Given the description of an element on the screen output the (x, y) to click on. 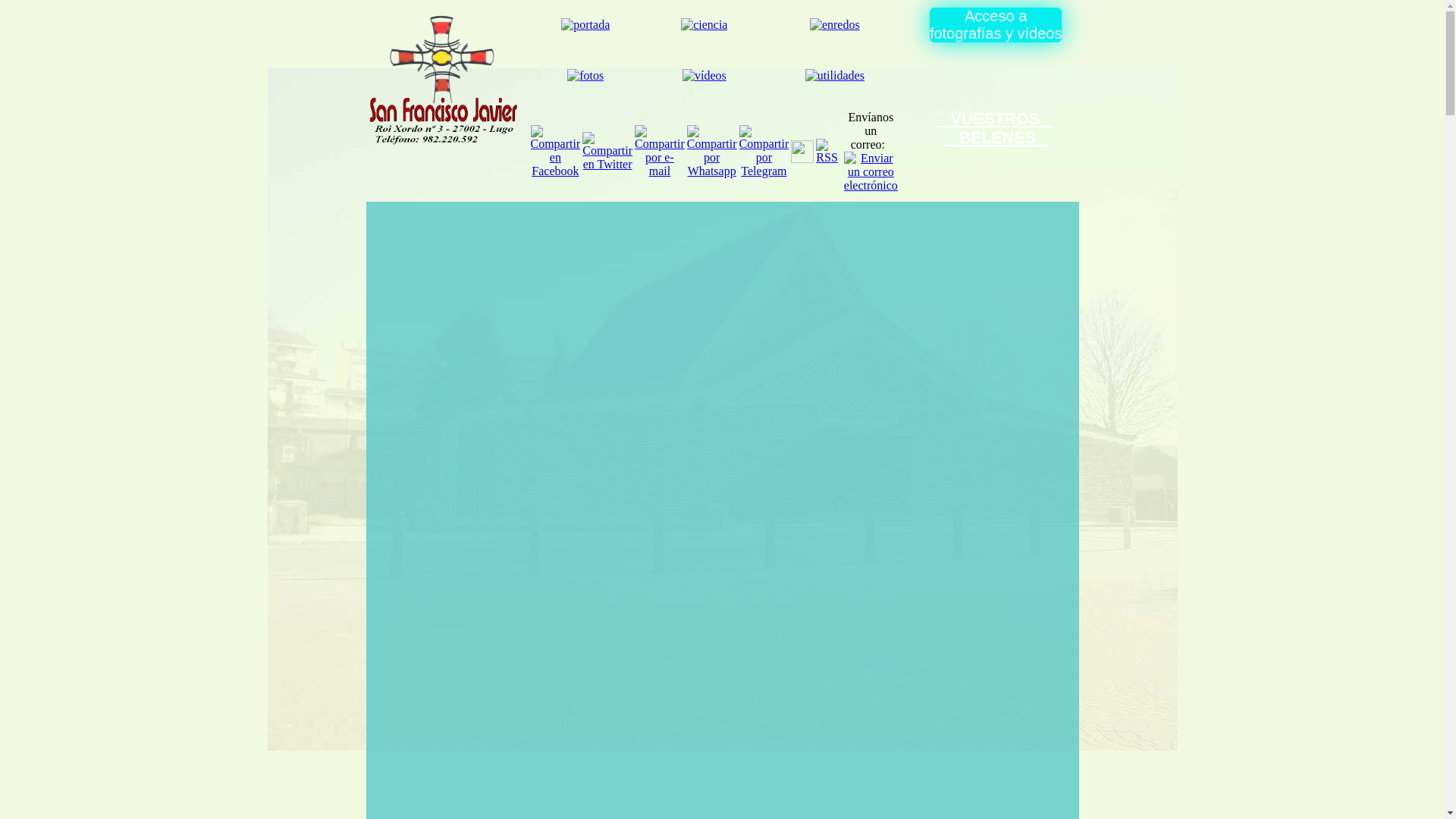
   VUESTROS   
    BELENES    Element type: text (995, 128)
